Given the description of an element on the screen output the (x, y) to click on. 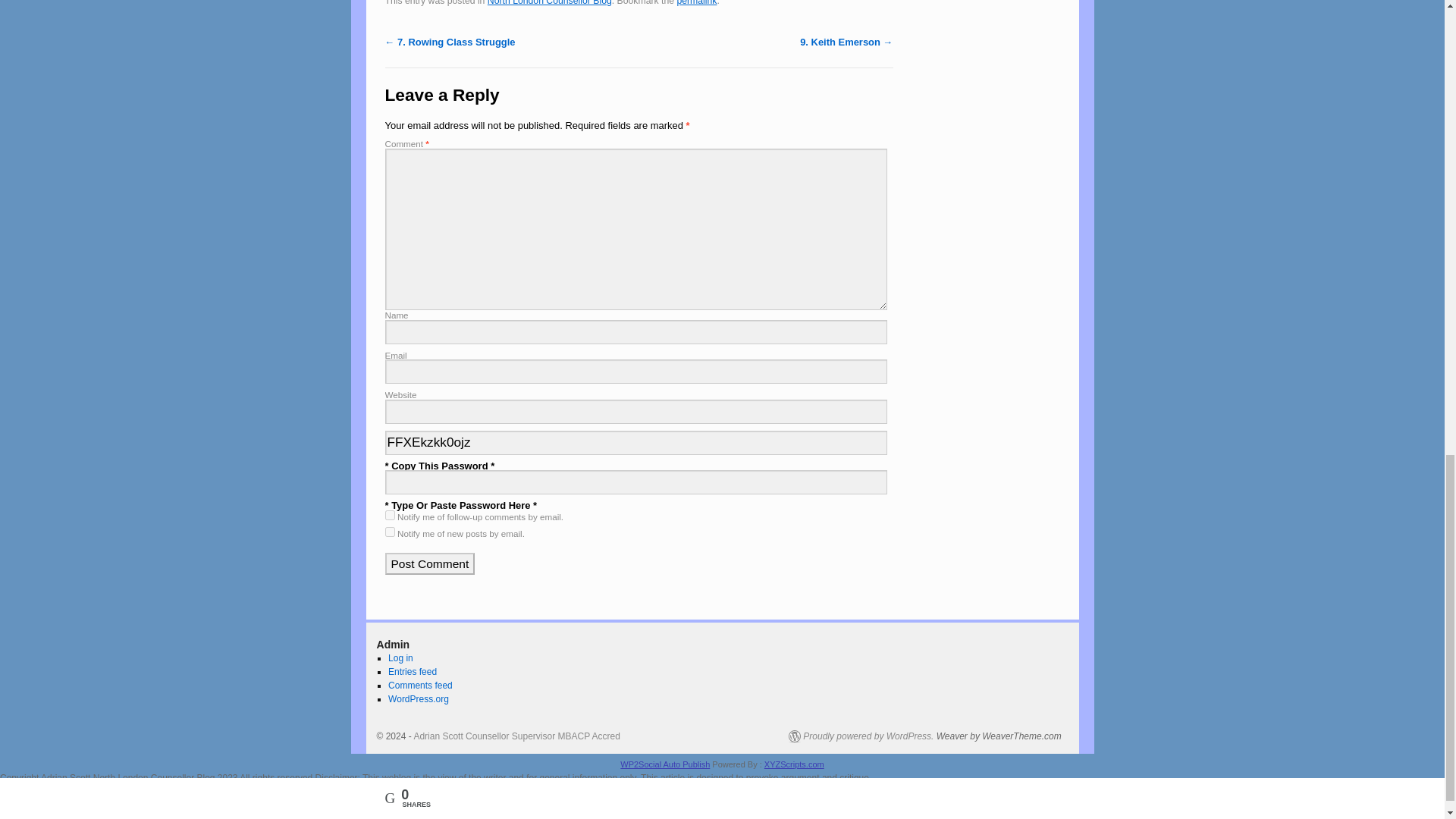
Adrian Scott Counsellor Supervisor MBACP Accred (516, 736)
FFXEkzkk0ojz (636, 442)
Permalink to 8. Heads Off (696, 2)
subscribe (389, 532)
Semantic Personal Publishing Platform (861, 736)
WP2Social Auto Publish (665, 764)
Post Comment (430, 563)
subscribe (389, 515)
